Given the description of an element on the screen output the (x, y) to click on. 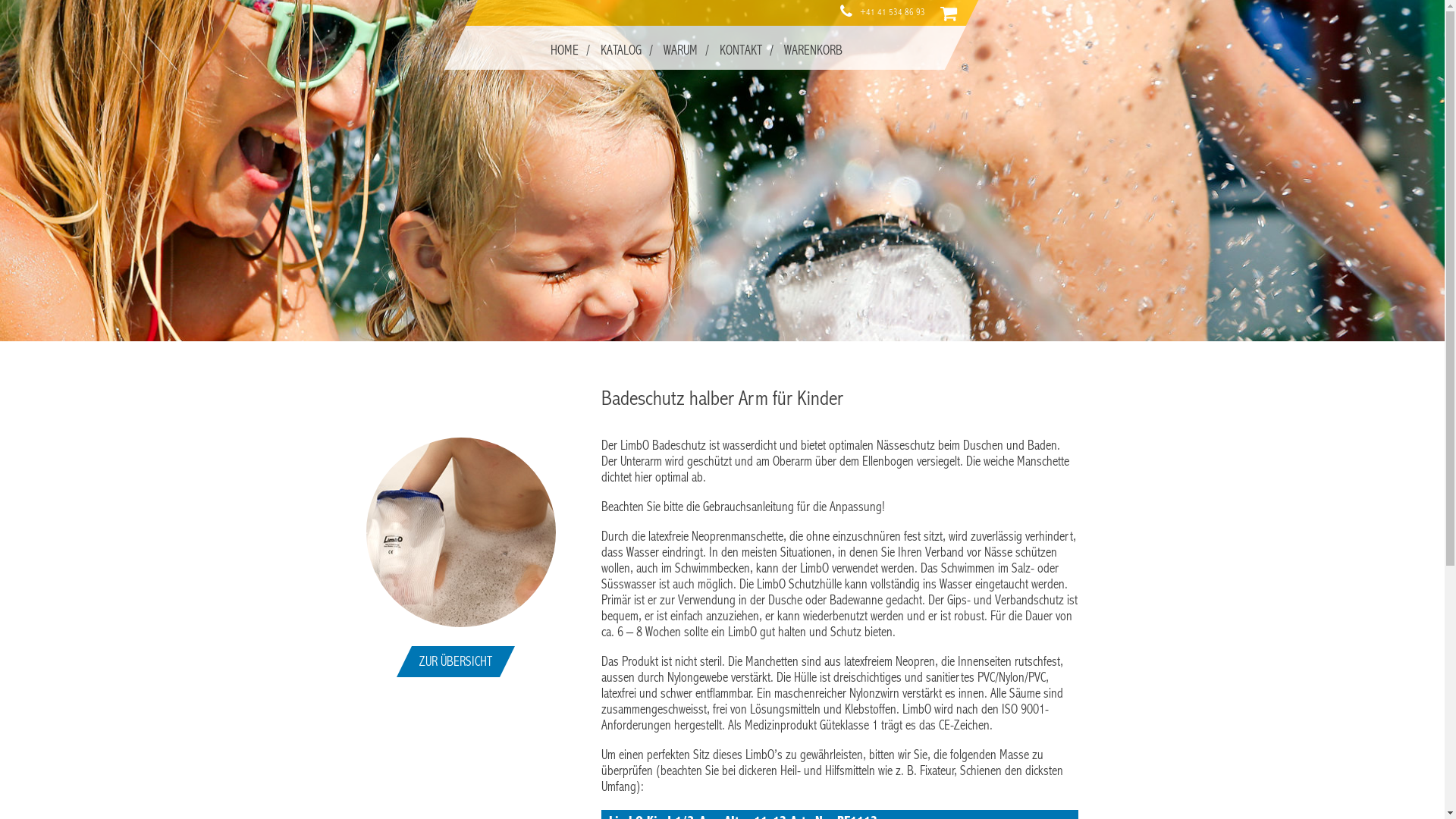
KONTAKT Element type: text (739, 50)
KATALOG Element type: text (619, 50)
WARUM Element type: text (679, 50)
WARENKORB Element type: text (812, 50)
+41 41 534 86 93 Element type: text (892, 12)
HOME Element type: text (563, 50)
